Given the description of an element on the screen output the (x, y) to click on. 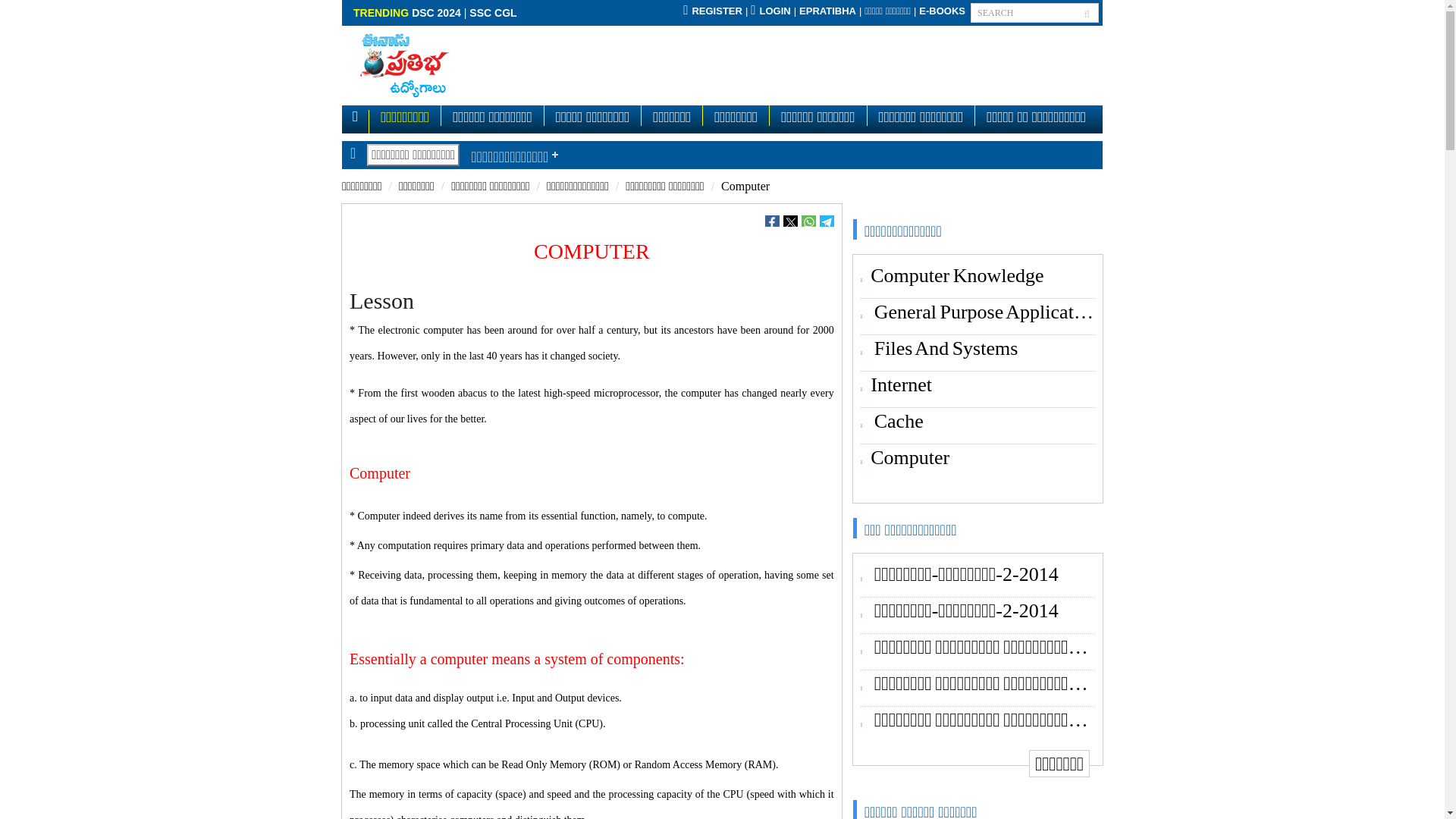
SSC CGL (492, 12)
ePrathibha (827, 10)
E-BOOKS (941, 10)
eenadu varthalu (941, 10)
LOGIN (770, 10)
eenadu varthalu (887, 10)
REGISTER (712, 10)
EPRATIBHA (827, 10)
DSC 2024 (436, 12)
Share on whatsapp (808, 220)
